Given the description of an element on the screen output the (x, y) to click on. 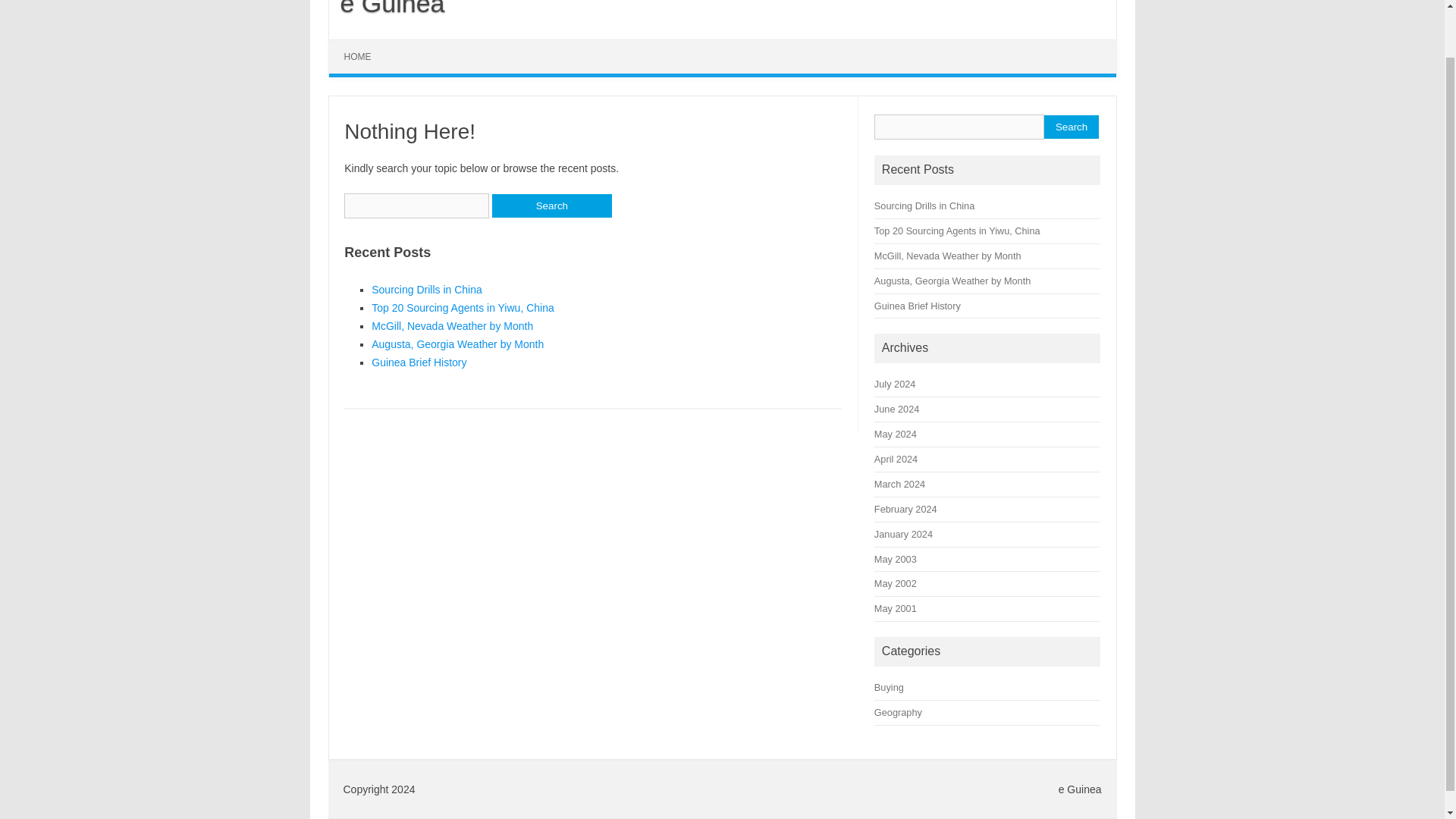
e Guinea (387, 8)
Search (1070, 126)
Sourcing Drills in China (924, 205)
Top 20 Sourcing Agents in Yiwu, China (462, 307)
May 2002 (896, 583)
Augusta, Georgia Weather by Month (457, 344)
Skip to content (363, 44)
July 2024 (895, 383)
April 2024 (896, 459)
McGill, Nevada Weather by Month (451, 326)
